Given the description of an element on the screen output the (x, y) to click on. 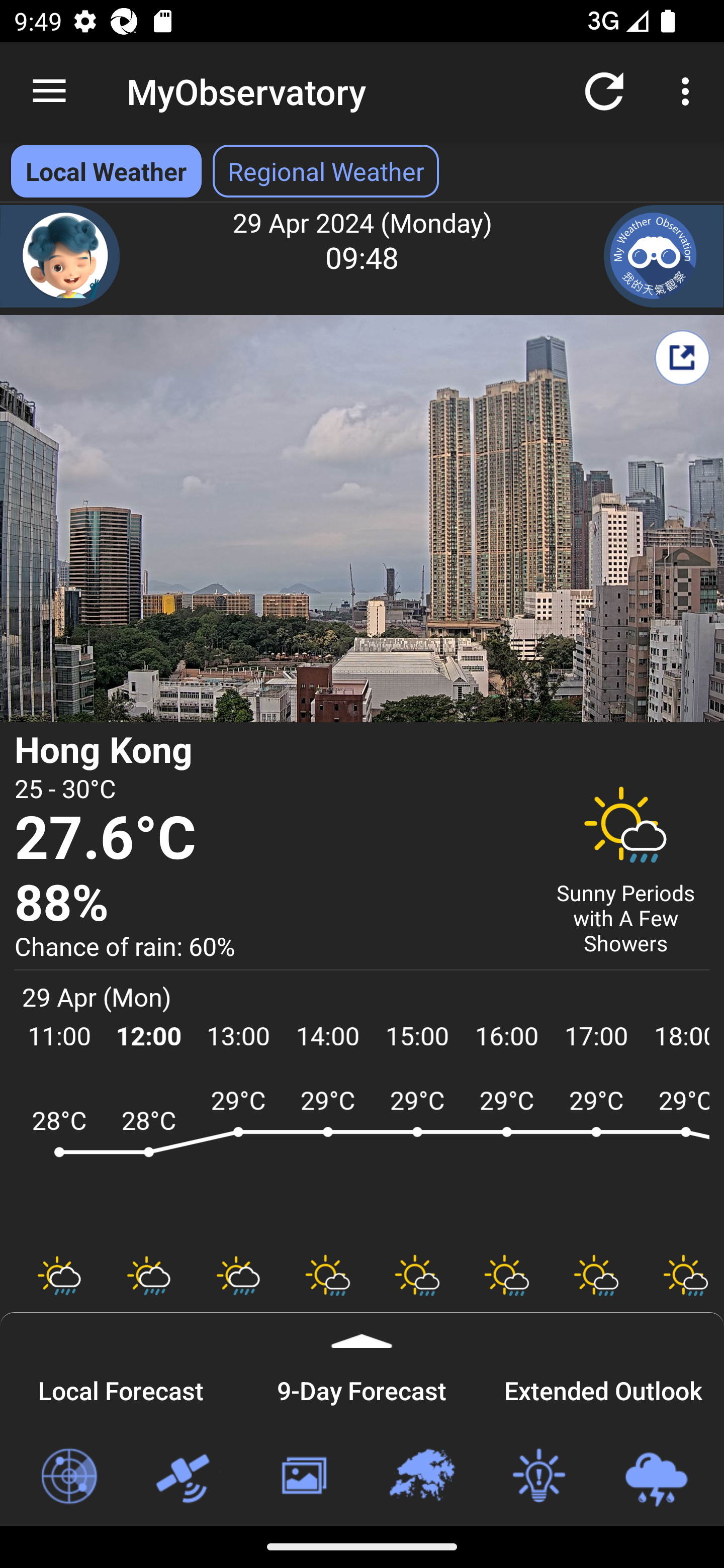
Navigate up (49, 91)
Refresh (604, 90)
More options (688, 90)
Local Weather Local Weather selected (105, 170)
Regional Weather Select Regional Weather (325, 170)
Chatbot (60, 256)
My Weather Observation (663, 256)
Share My Weather Report (681, 357)
27.6°C Temperature
27.6 degree Celsius (270, 839)
88% Relative Humidity
88 percent (270, 903)
ARWF (361, 1160)
Expand (362, 1330)
Local Forecast (120, 1387)
Extended Outlook (603, 1387)
Radar Images (68, 1476)
Satellite Images (185, 1476)
Weather Photos (302, 1476)
Regional Weather (420, 1476)
Weather Tips (537, 1476)
Loc-based Rain & Lightning Forecast (655, 1476)
